Given the description of an element on the screen output the (x, y) to click on. 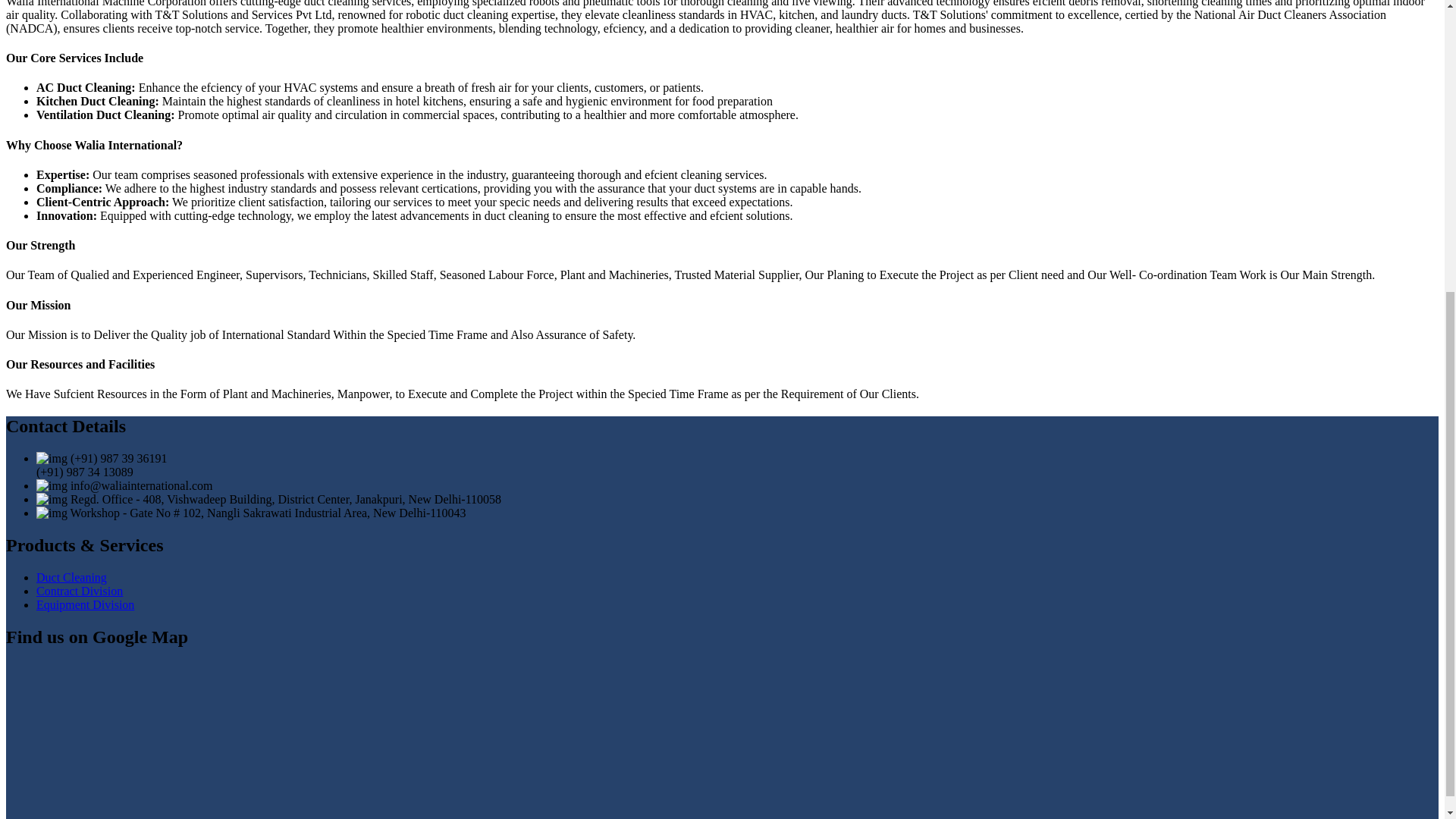
Equipment Division (84, 604)
Contract Division (79, 590)
Duct Cleaning (71, 576)
